Given the description of an element on the screen output the (x, y) to click on. 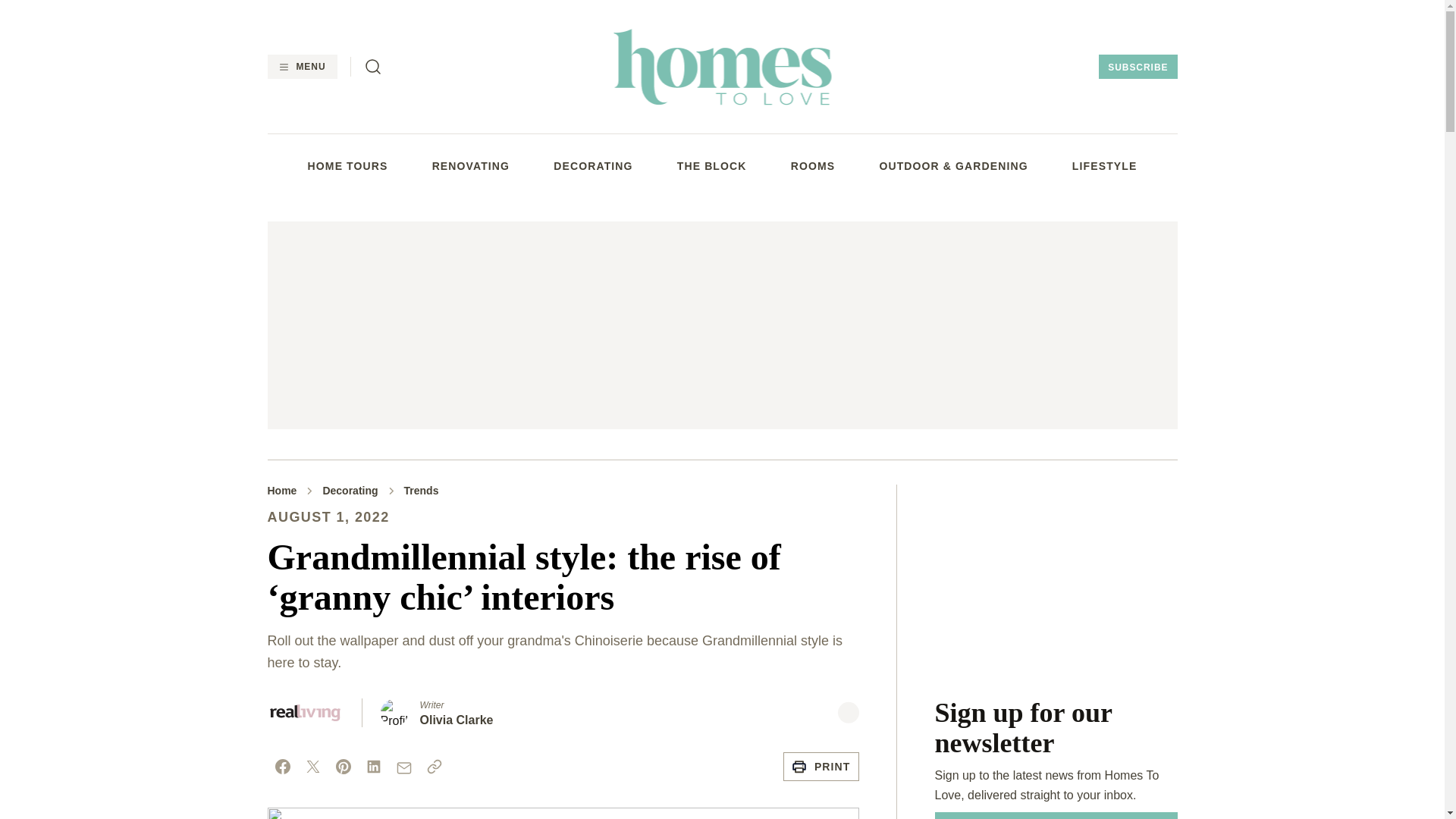
THE BLOCK (711, 165)
LIFESTYLE (1104, 165)
HOME TOURS (347, 165)
RENOVATING (470, 165)
ROOMS (812, 165)
SUBSCRIBE (1137, 66)
DECORATING (592, 165)
MENU (301, 66)
